Given the description of an element on the screen output the (x, y) to click on. 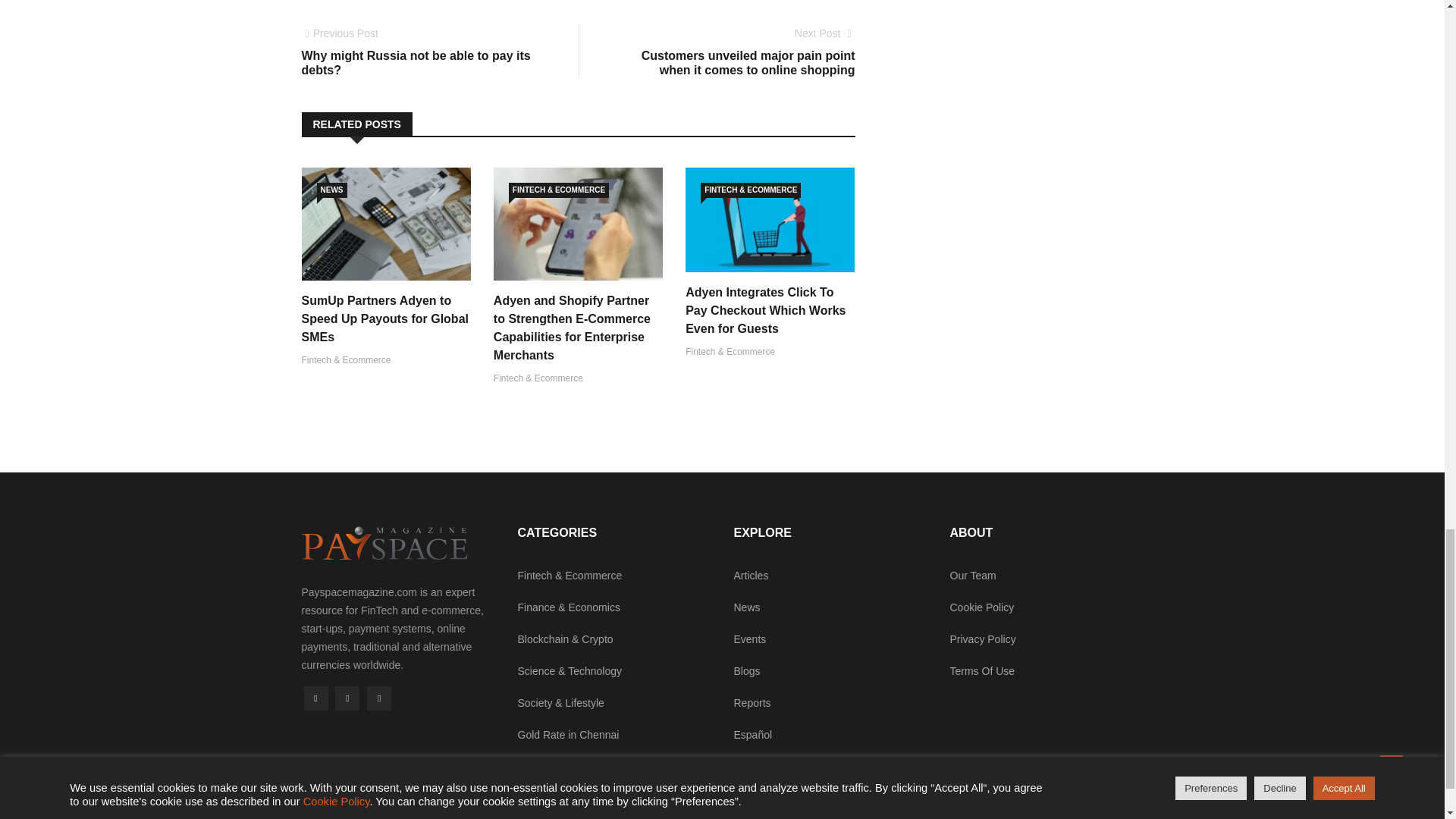
Twitter (424, 51)
RSS (346, 698)
SumUp Partners Adyen to Speed Up Payouts for Global SMEs (378, 698)
Facebook (384, 318)
NEWS (314, 698)
